Given the description of an element on the screen output the (x, y) to click on. 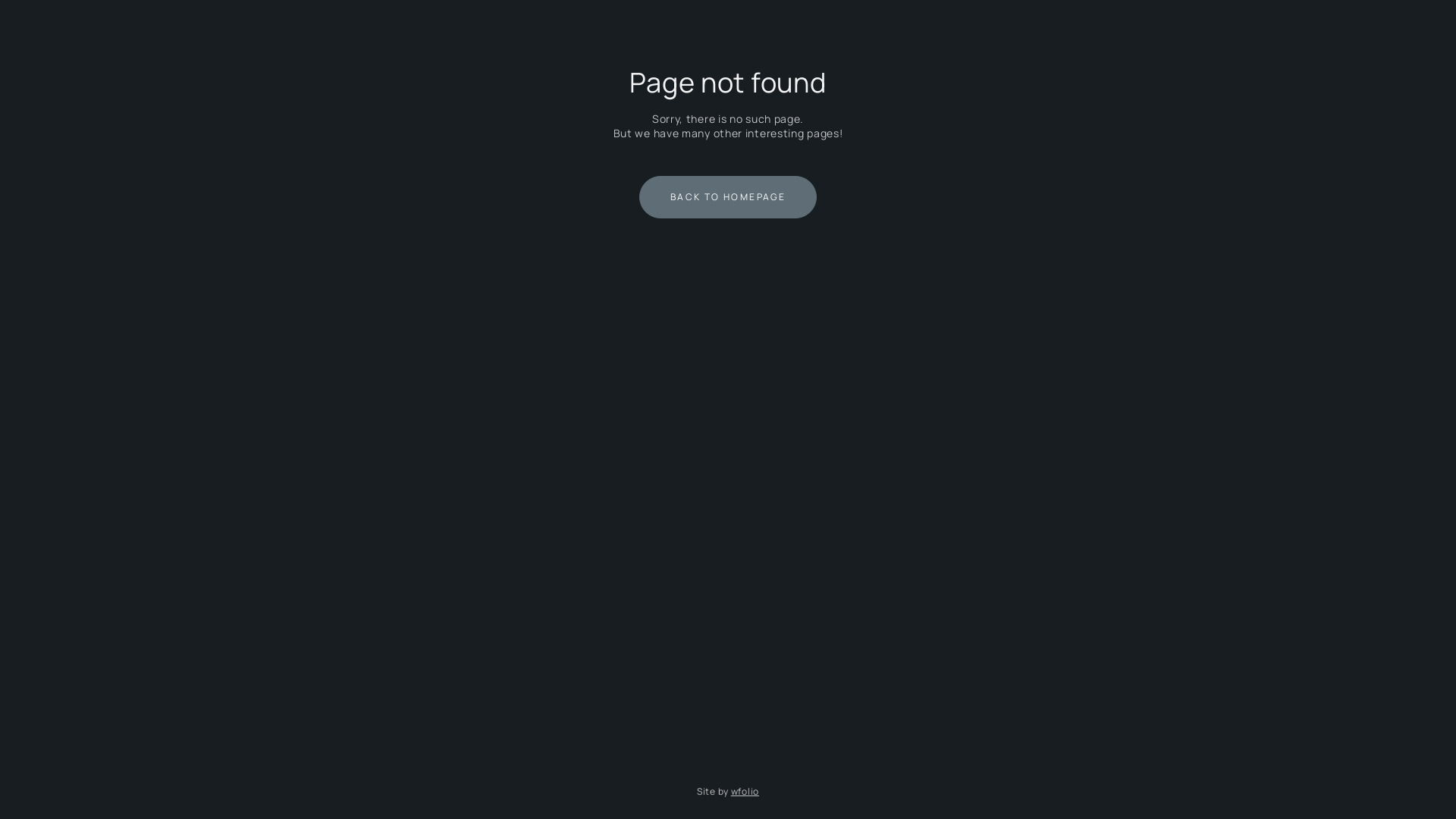
wfolio Element type: text (745, 790)
BACK TO HOMEPAGE Element type: text (727, 196)
